Given the description of an element on the screen output the (x, y) to click on. 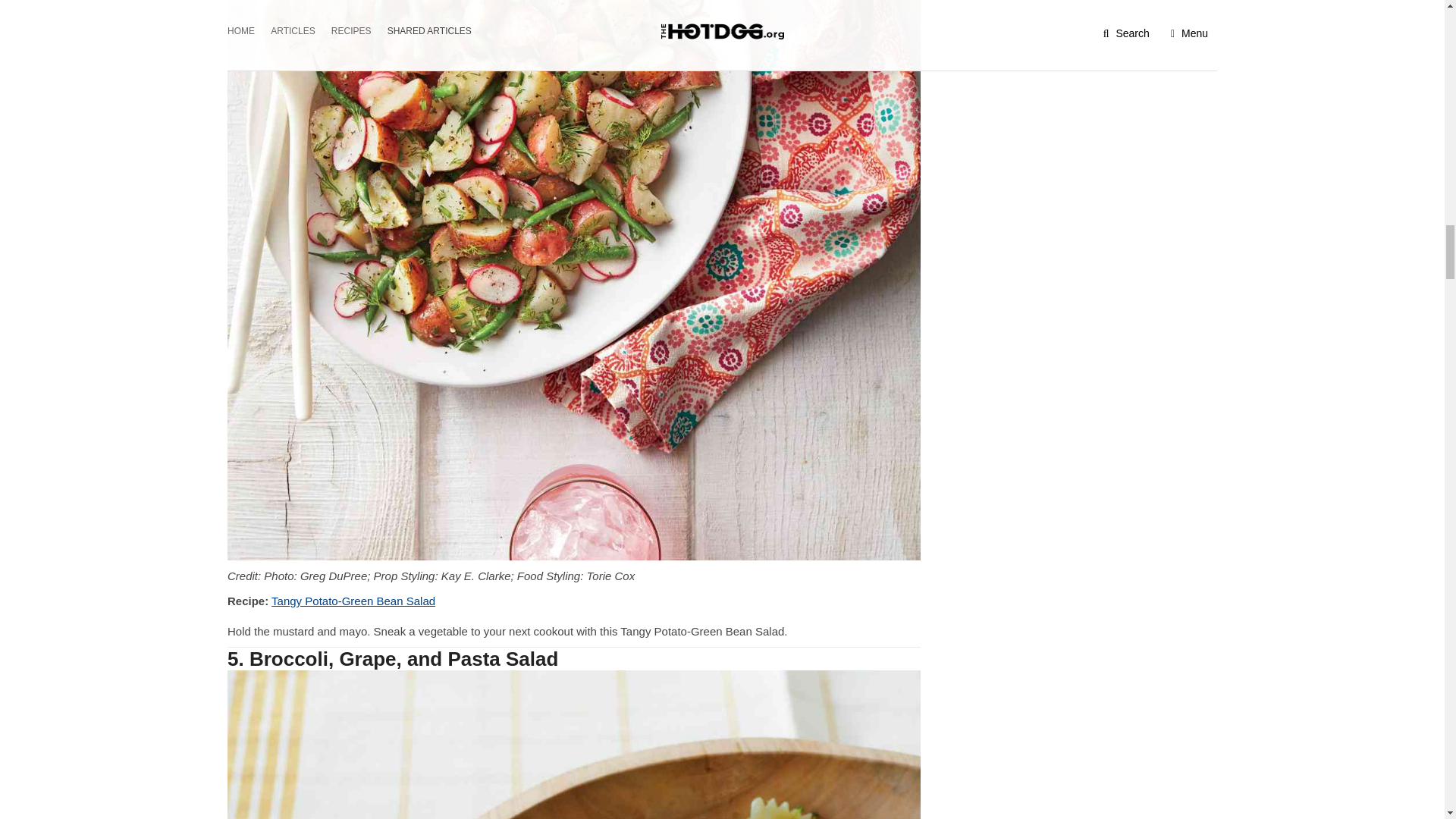
Tangy Potato-Green Bean Salad (352, 600)
Broccoli, Grape, and Pasta Salad (573, 744)
